Given the description of an element on the screen output the (x, y) to click on. 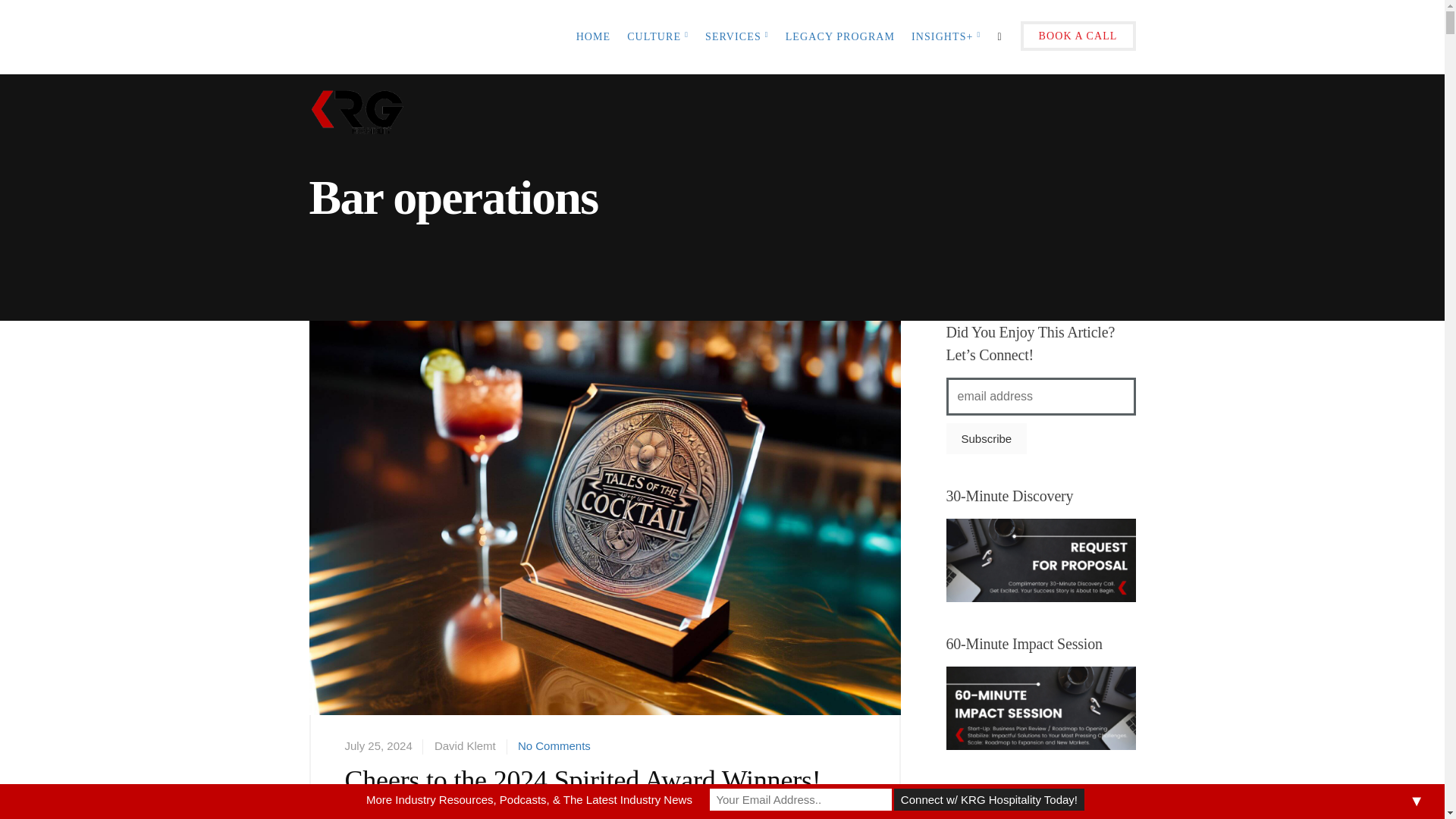
BOOK A CALL (1077, 37)
Search (18, 18)
Subscribe (986, 438)
LEGACY PROGRAM (840, 37)
2023 Cost Guide (1040, 816)
Cheers to the 2024 Spirited Award Winners! (604, 545)
